Given the description of an element on the screen output the (x, y) to click on. 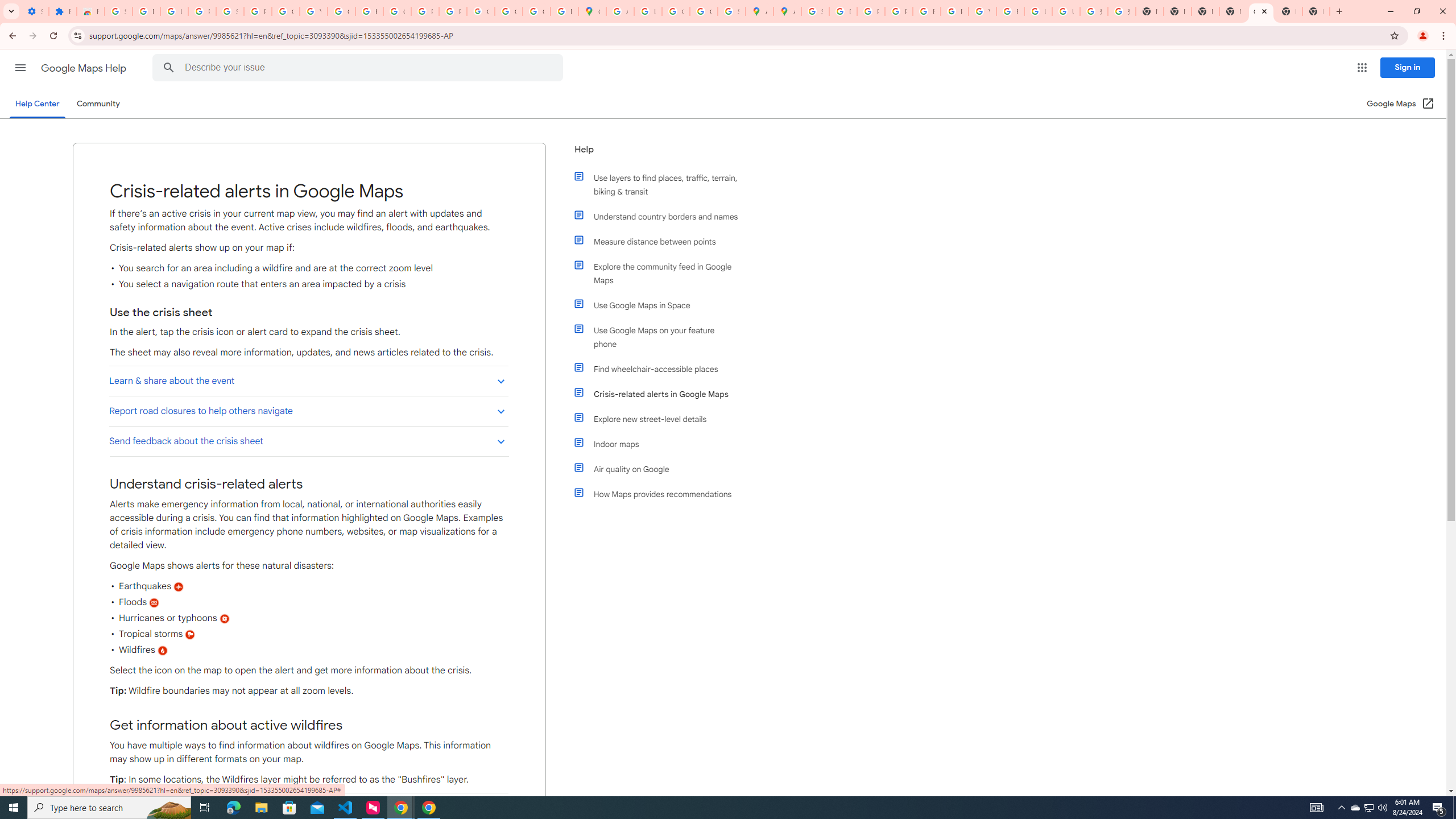
YouTube (313, 11)
How Maps provides recommendations (661, 493)
Google Maps (Open in a new window) (1400, 103)
Sign in - Google Accounts (118, 11)
Report road closures to help others navigate (308, 410)
